Given the description of an element on the screen output the (x, y) to click on. 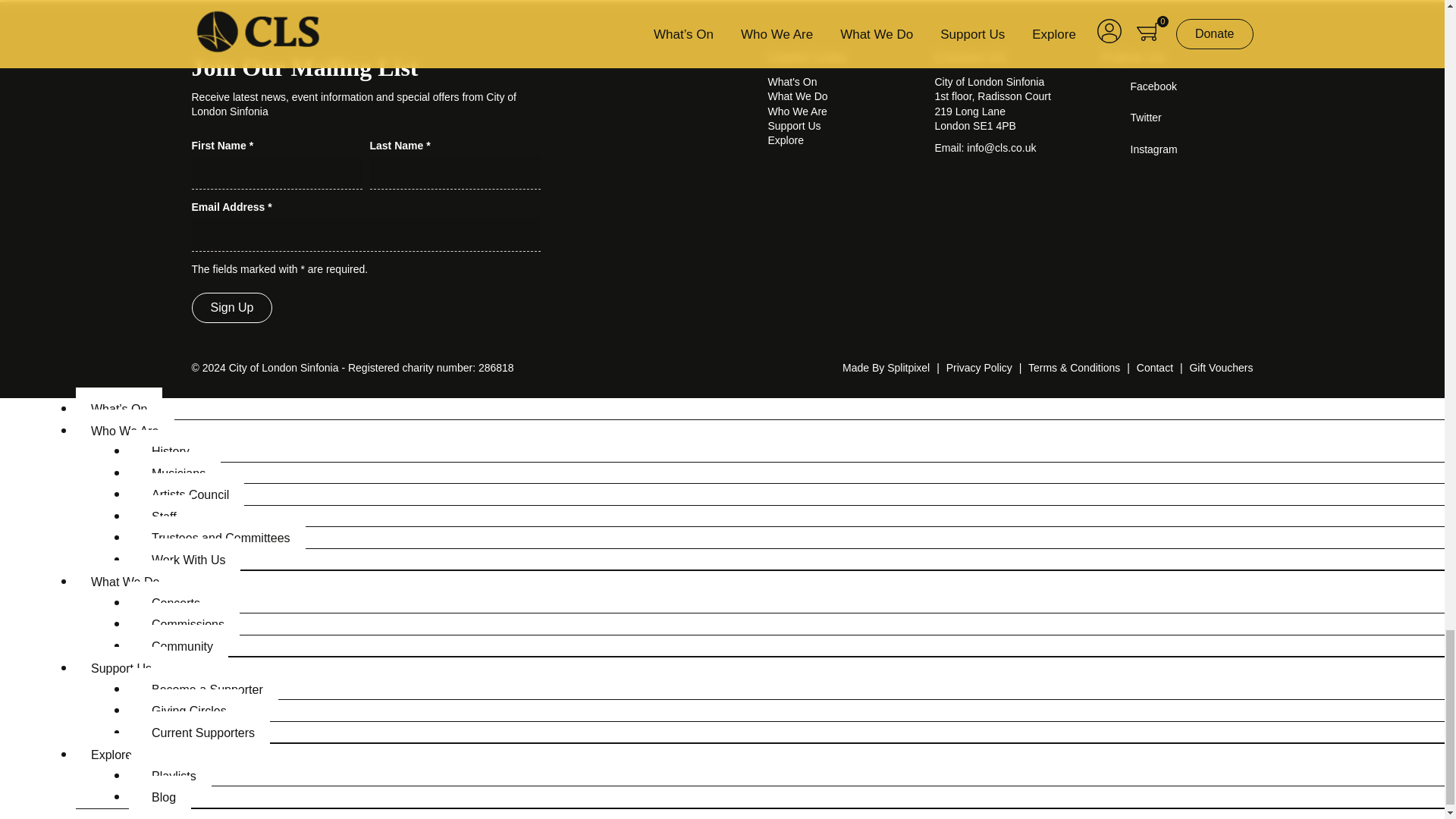
Sign Up (231, 307)
What's On (791, 81)
Sign Up (231, 307)
